Given the description of an element on the screen output the (x, y) to click on. 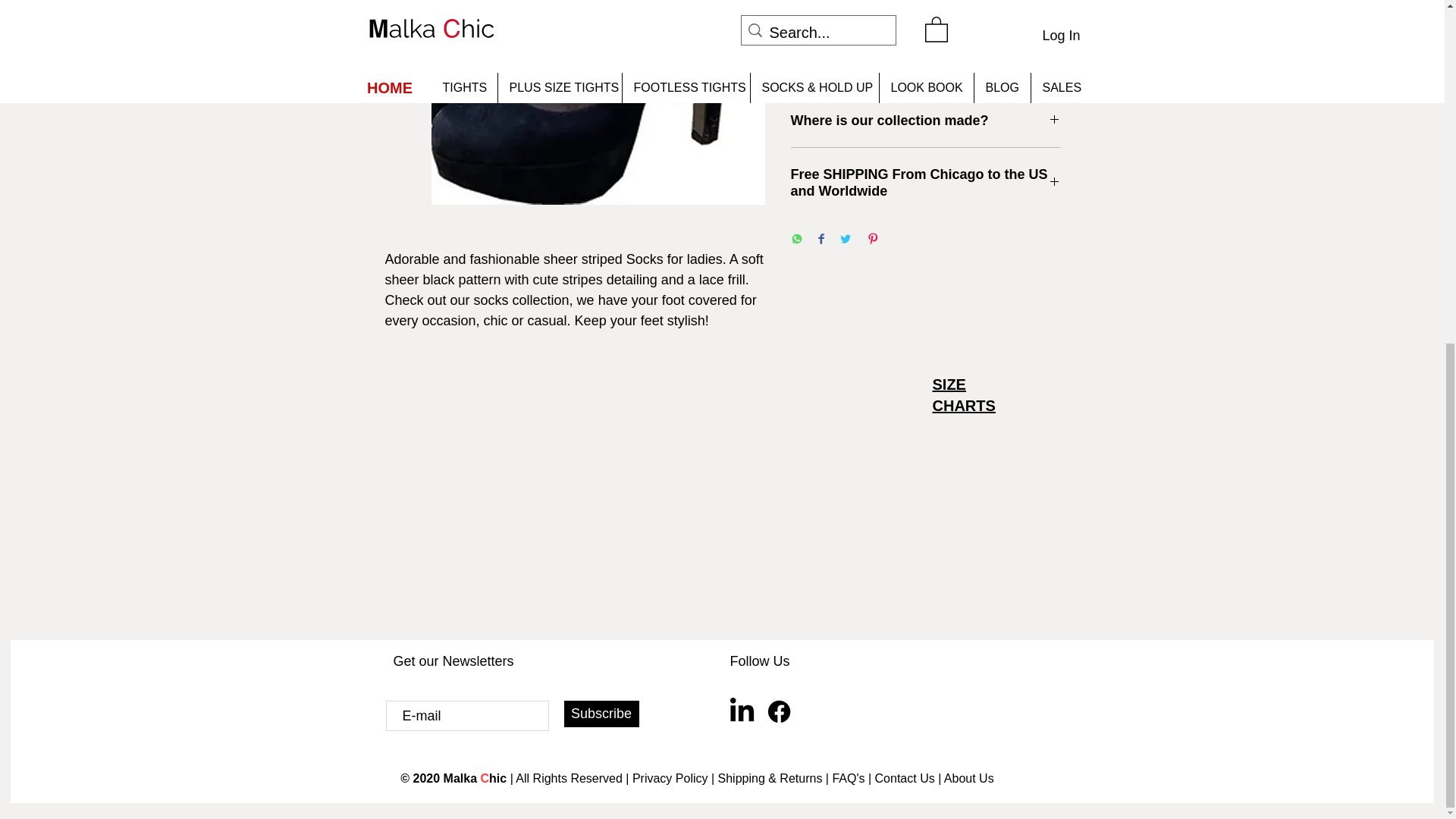
Material composition of our Socks (924, 12)
Where is our collection made? (924, 120)
How can I take good care of my Socks? (924, 66)
Free SHIPPING From Chicago to the US and Worldwide (924, 182)
